Given the description of an element on the screen output the (x, y) to click on. 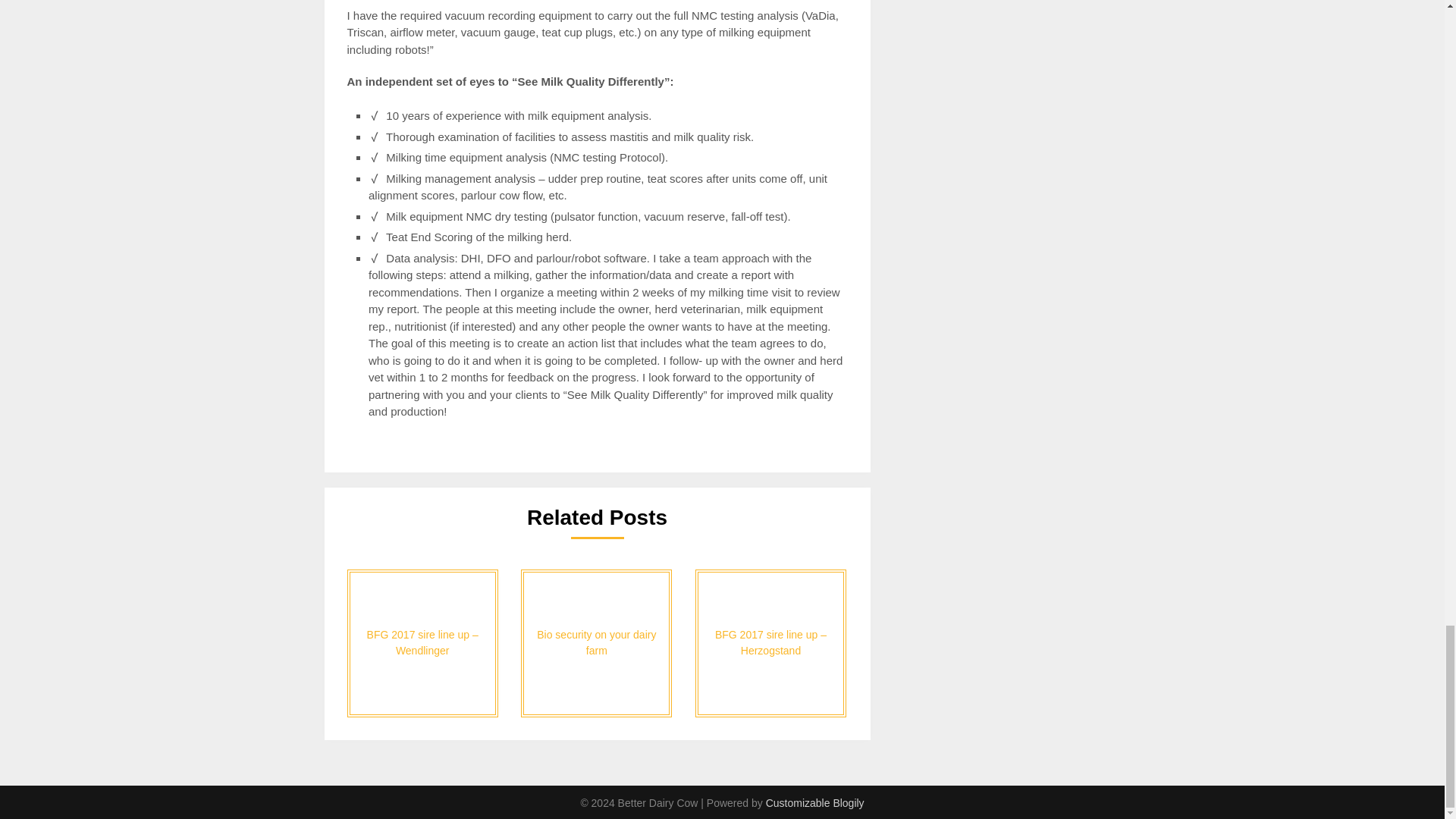
Bio security on your dairy farm (596, 643)
Customizable Blogily (814, 802)
Bio security on your dairy farm (596, 643)
